Given the description of an element on the screen output the (x, y) to click on. 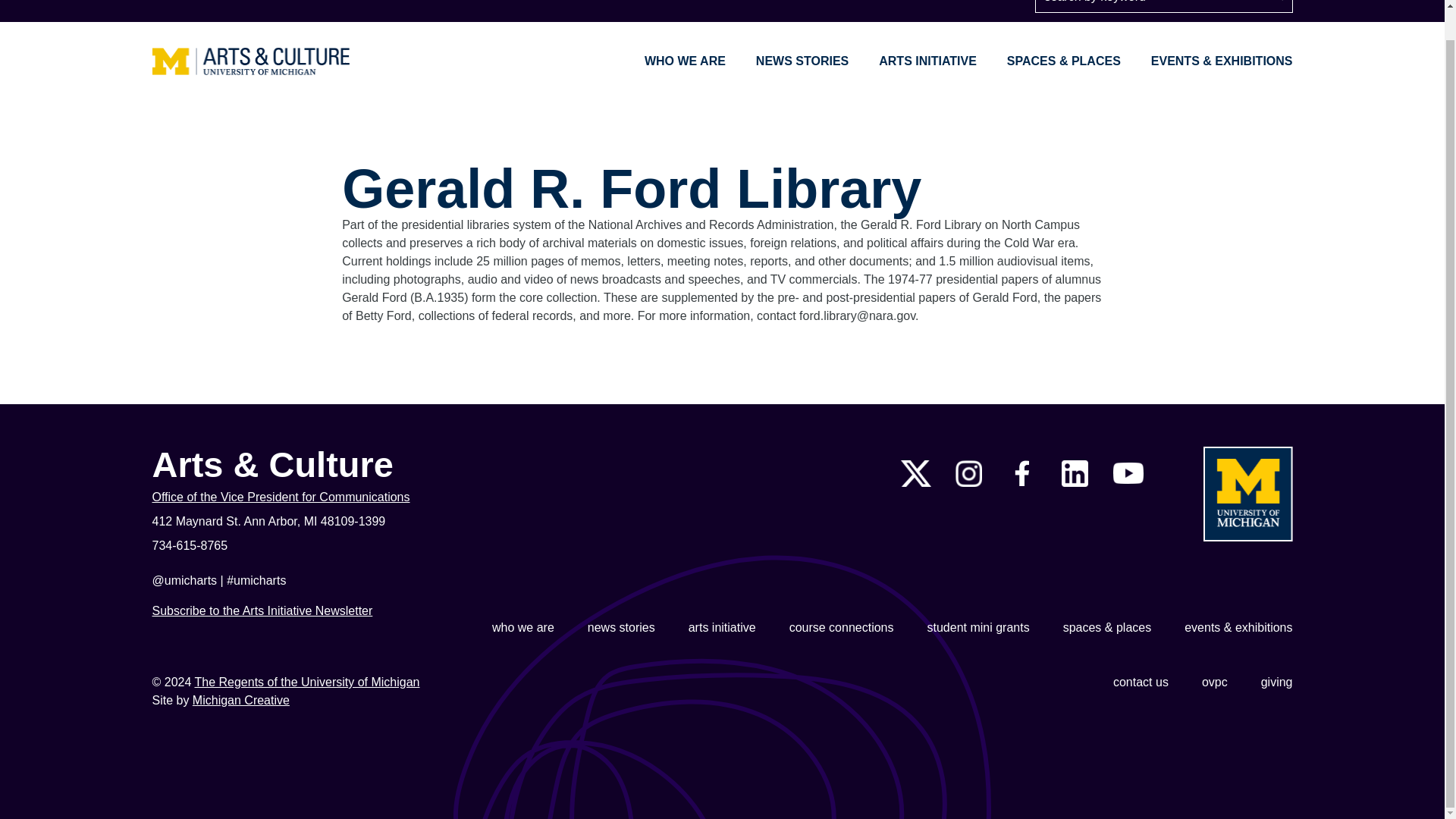
734-615-8765 (341, 546)
course connections (841, 628)
Linkedin (1074, 473)
Twitter (916, 473)
NEWS STORIES (801, 60)
news stories (621, 628)
student mini grants (977, 628)
arts initiative (721, 628)
WHO WE ARE (685, 60)
Instagram (968, 473)
who we are (523, 628)
Office of the Vice President for Communications (341, 497)
Subscribe to the Arts Initiative Newsletter (261, 610)
YouTube (1127, 473)
ARTS INITIATIVE (927, 60)
